Given the description of an element on the screen output the (x, y) to click on. 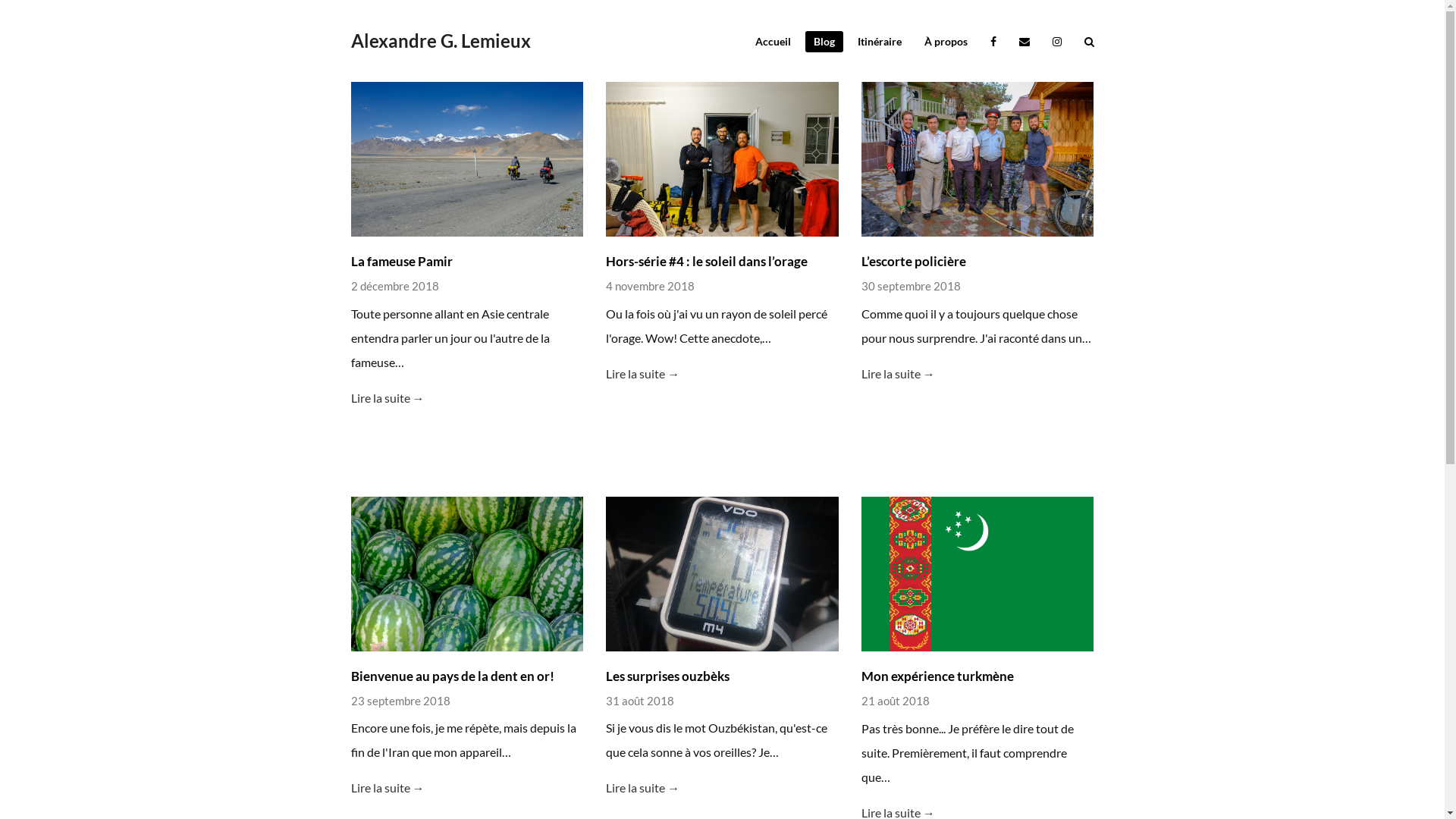
La fameuse Pamir Element type: hover (466, 158)
Blog Element type: text (824, 40)
Bienvenue au pays de la dent en or! Element type: text (451, 676)
La fameuse Pamir Element type: text (400, 261)
Accueil Element type: text (772, 40)
Alexandre G. Lemieux Element type: text (440, 40)
Bienvenue au pays de la dent en or! Element type: hover (466, 573)
